Given the description of an element on the screen output the (x, y) to click on. 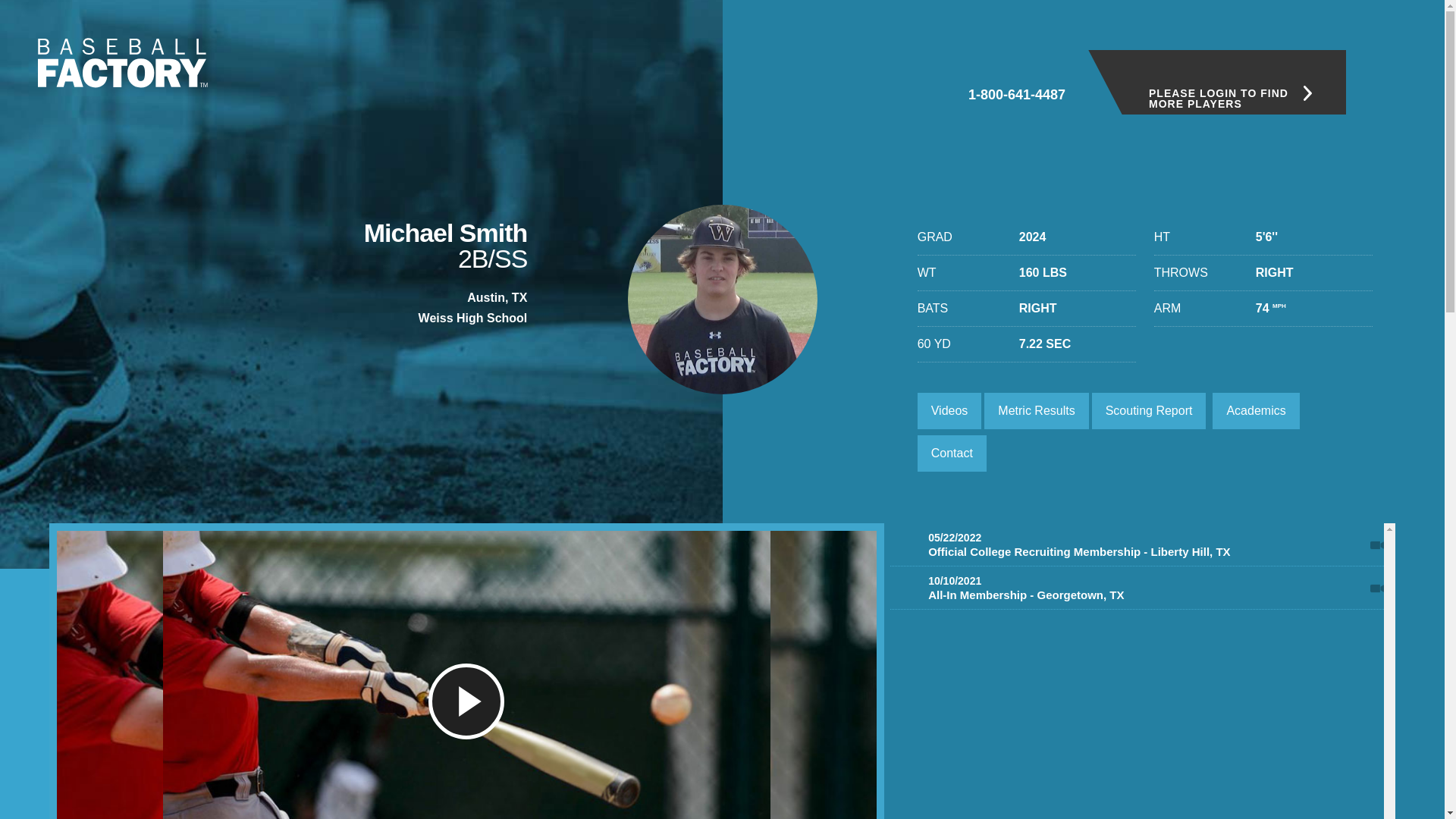
Contact (952, 452)
Scouting Report (1149, 411)
1-800-641-4487 (1016, 75)
Videos (949, 411)
Return Home (122, 62)
Academics (1255, 411)
Play Video (1136, 546)
Play Video (1136, 589)
PLEASE LOGIN TO FIND MORE PLAYERS (1216, 81)
Metric Results (1035, 411)
